Given the description of an element on the screen output the (x, y) to click on. 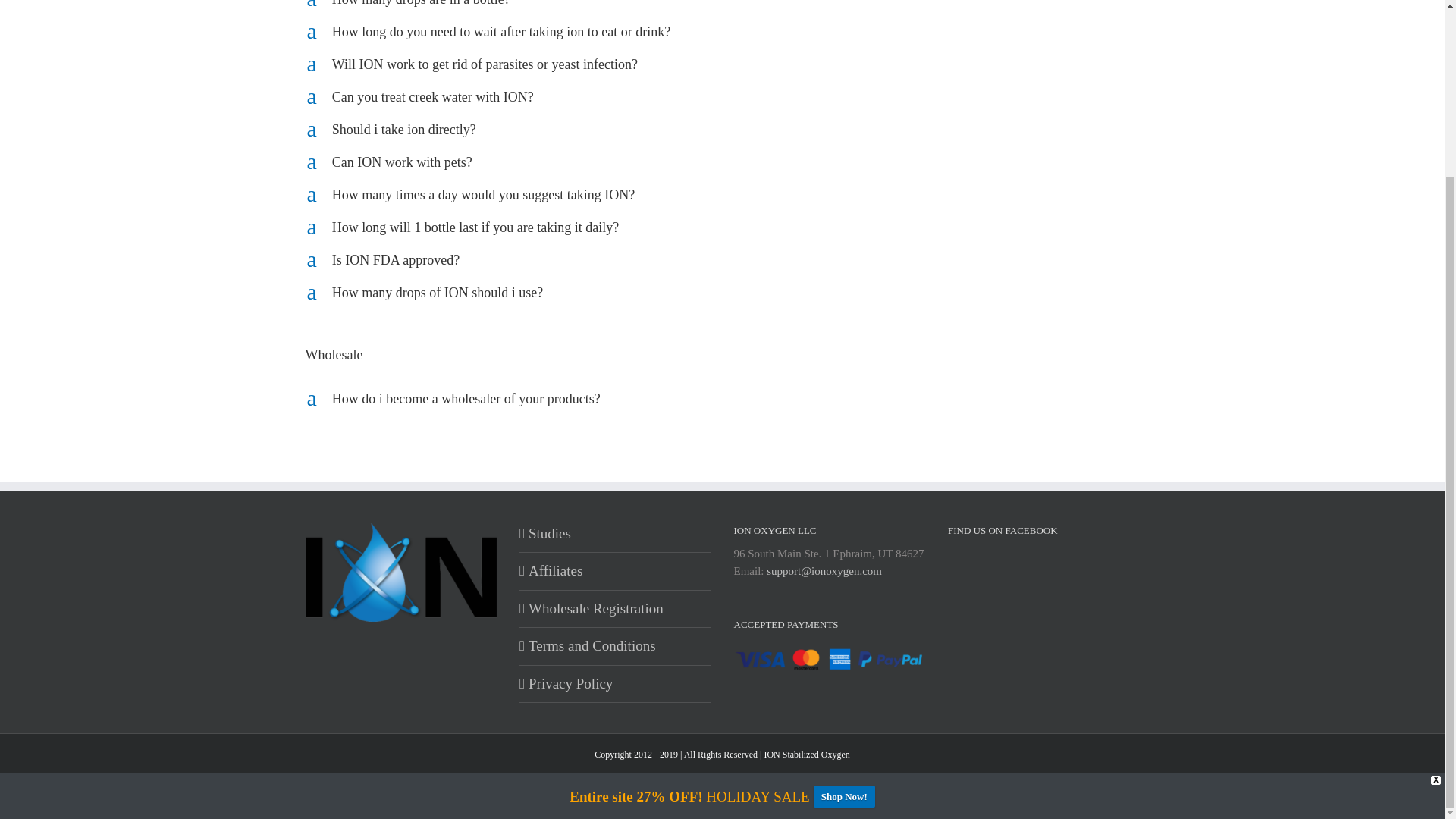
Click here to open Wholesale (721, 354)
